Given the description of an element on the screen output the (x, y) to click on. 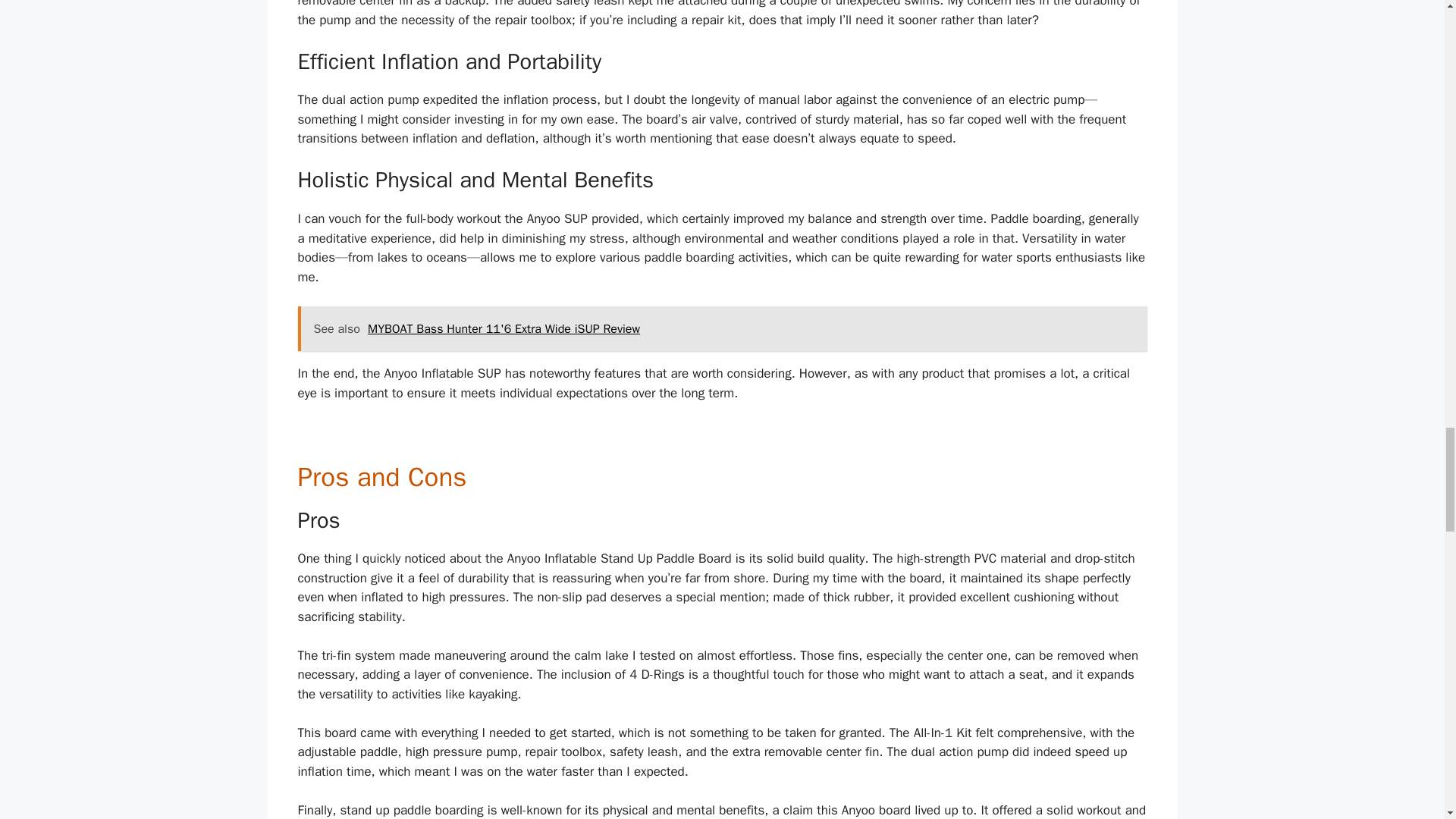
See also  MYBOAT Bass Hunter 11'6 Extra Wide iSUP Review (722, 329)
